Given the description of an element on the screen output the (x, y) to click on. 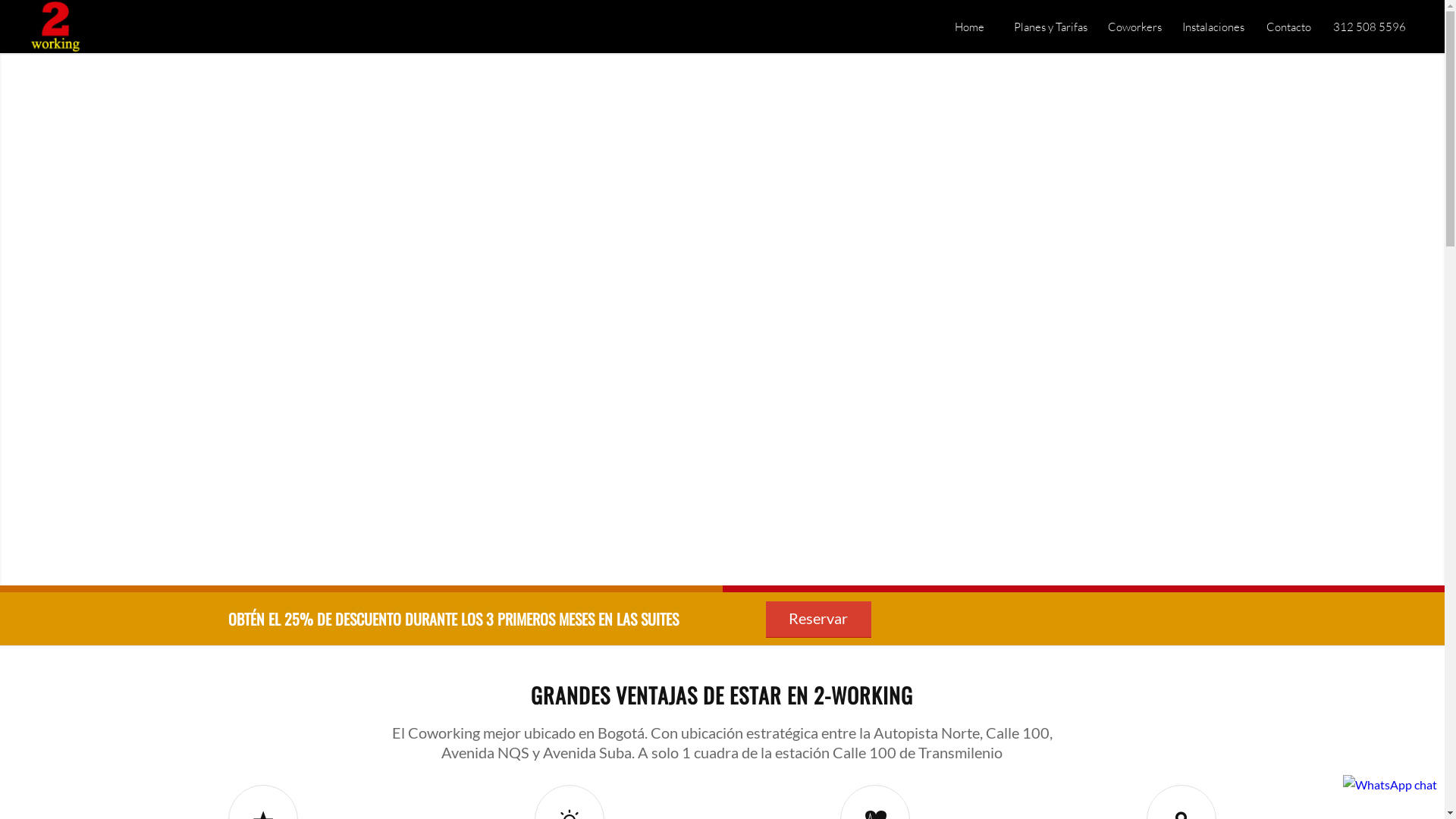
Planes y Tarifas Element type: text (1050, 26)
Reservar Element type: text (818, 619)
Contacto Element type: text (1288, 26)
Home Element type: text (969, 26)
Coworkers Element type: text (1134, 26)
Instalaciones Element type: text (1212, 26)
312 508 5596 Element type: text (1368, 26)
